Given the description of an element on the screen output the (x, y) to click on. 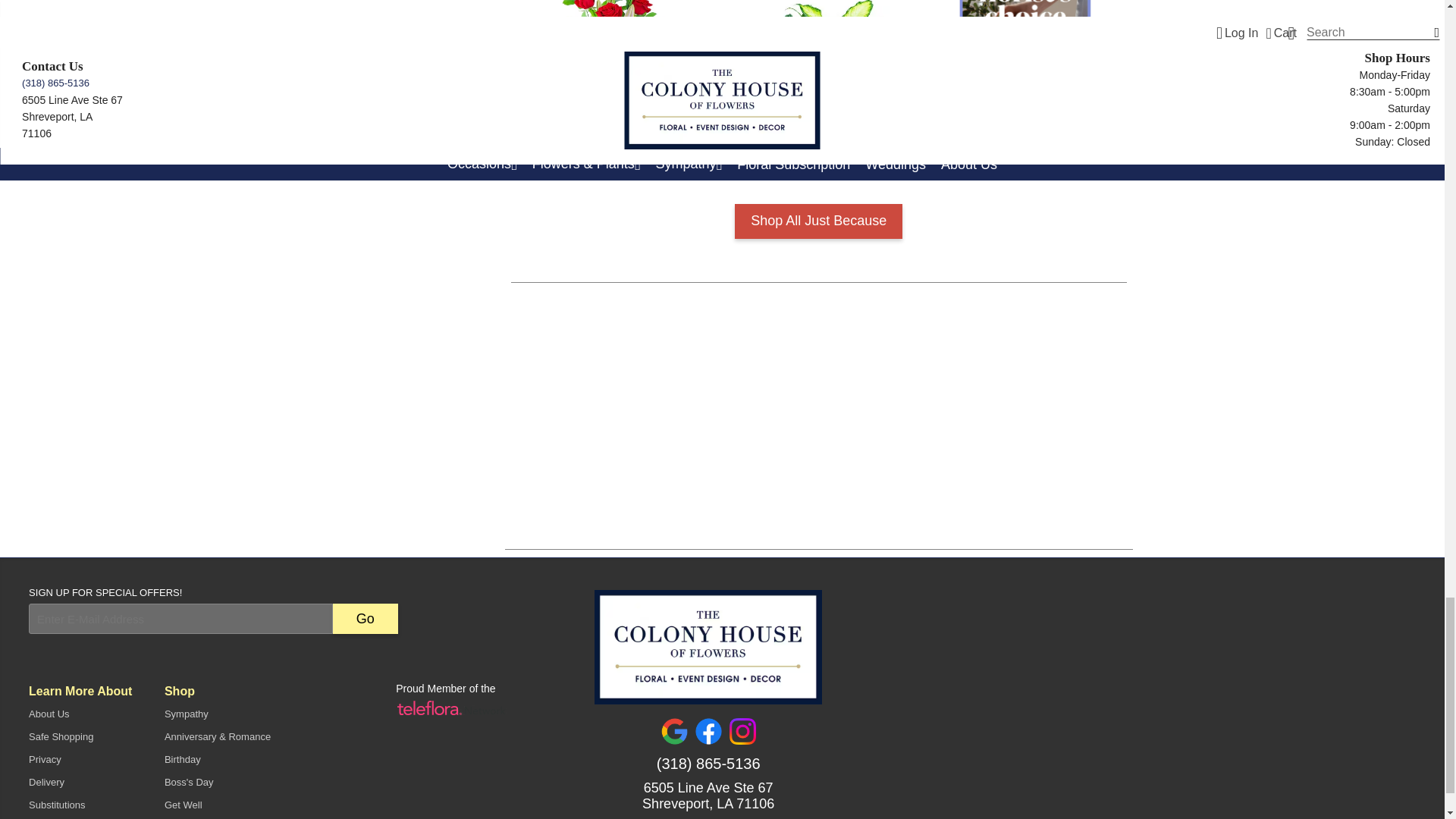
go (365, 618)
Email Sign up (181, 618)
Go (365, 618)
